Given the description of an element on the screen output the (x, y) to click on. 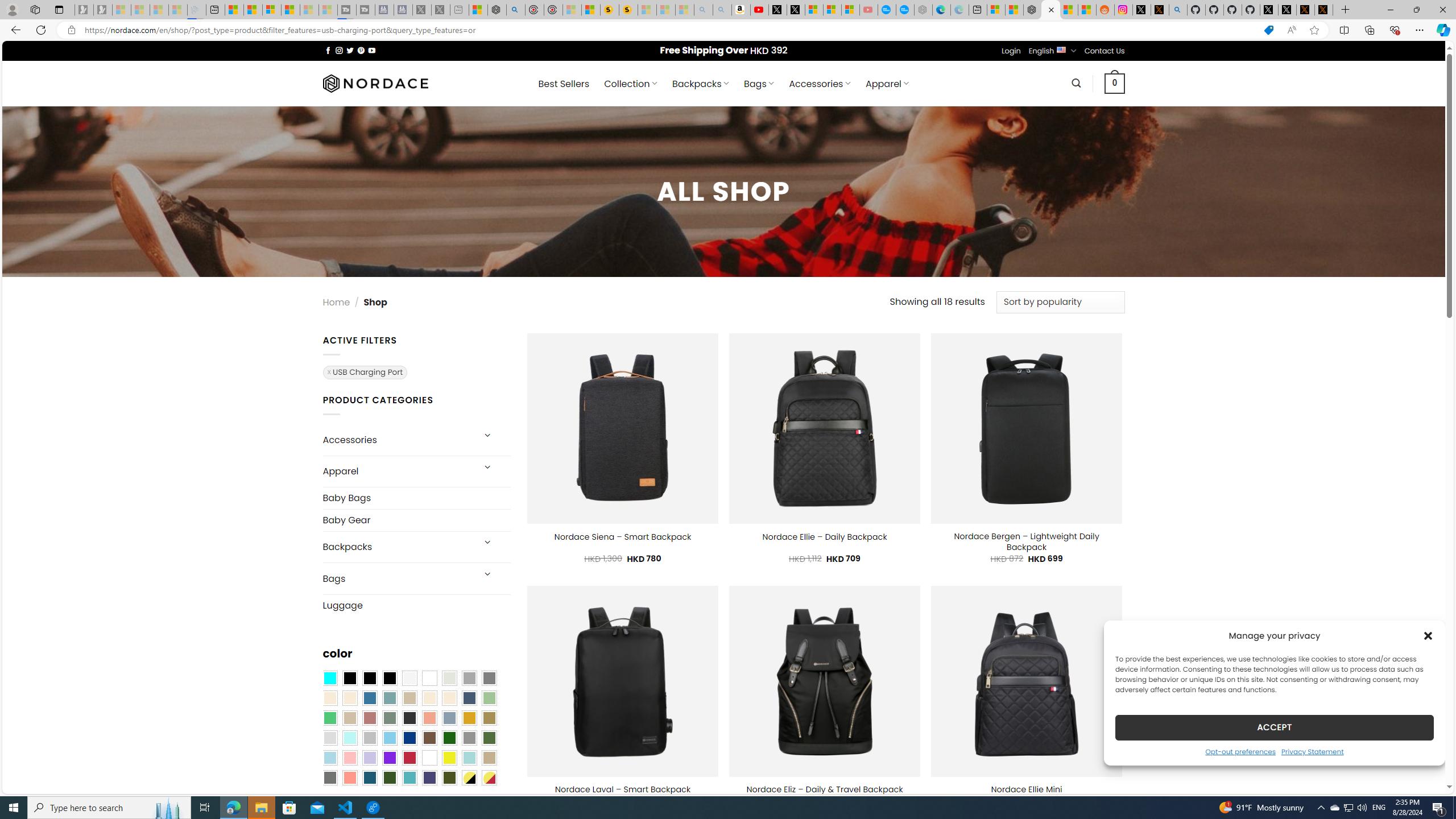
Restore (1416, 9)
Profile / X (1268, 9)
Mint (349, 737)
Aqua (468, 758)
Workspaces (34, 9)
Caramel (429, 698)
 Best Sellers (563, 83)
Silver (369, 737)
Kelp (488, 717)
Pink (349, 758)
